Given the description of an element on the screen output the (x, y) to click on. 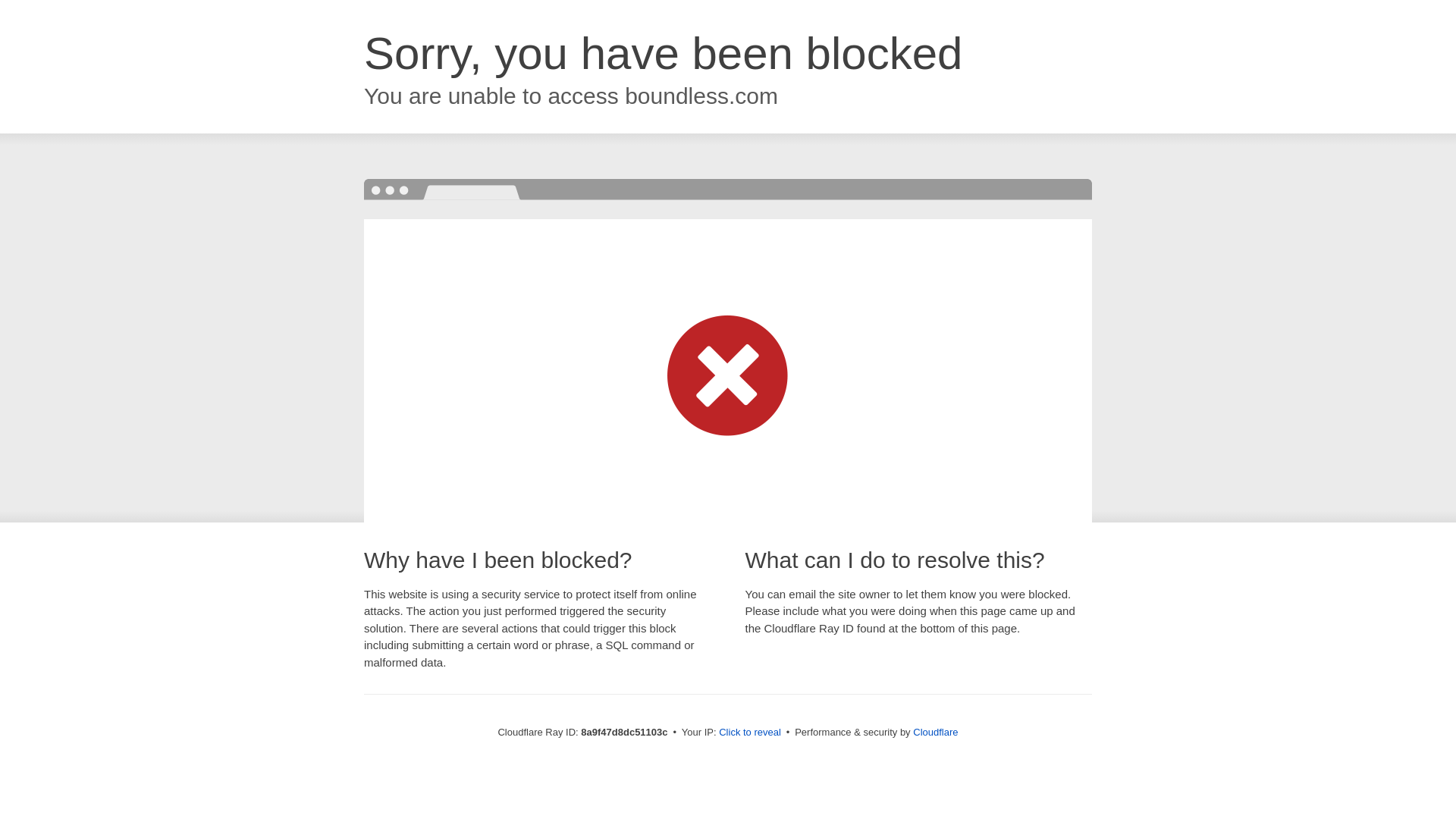
Click to reveal (749, 732)
Cloudflare (935, 731)
